Given the description of an element on the screen output the (x, y) to click on. 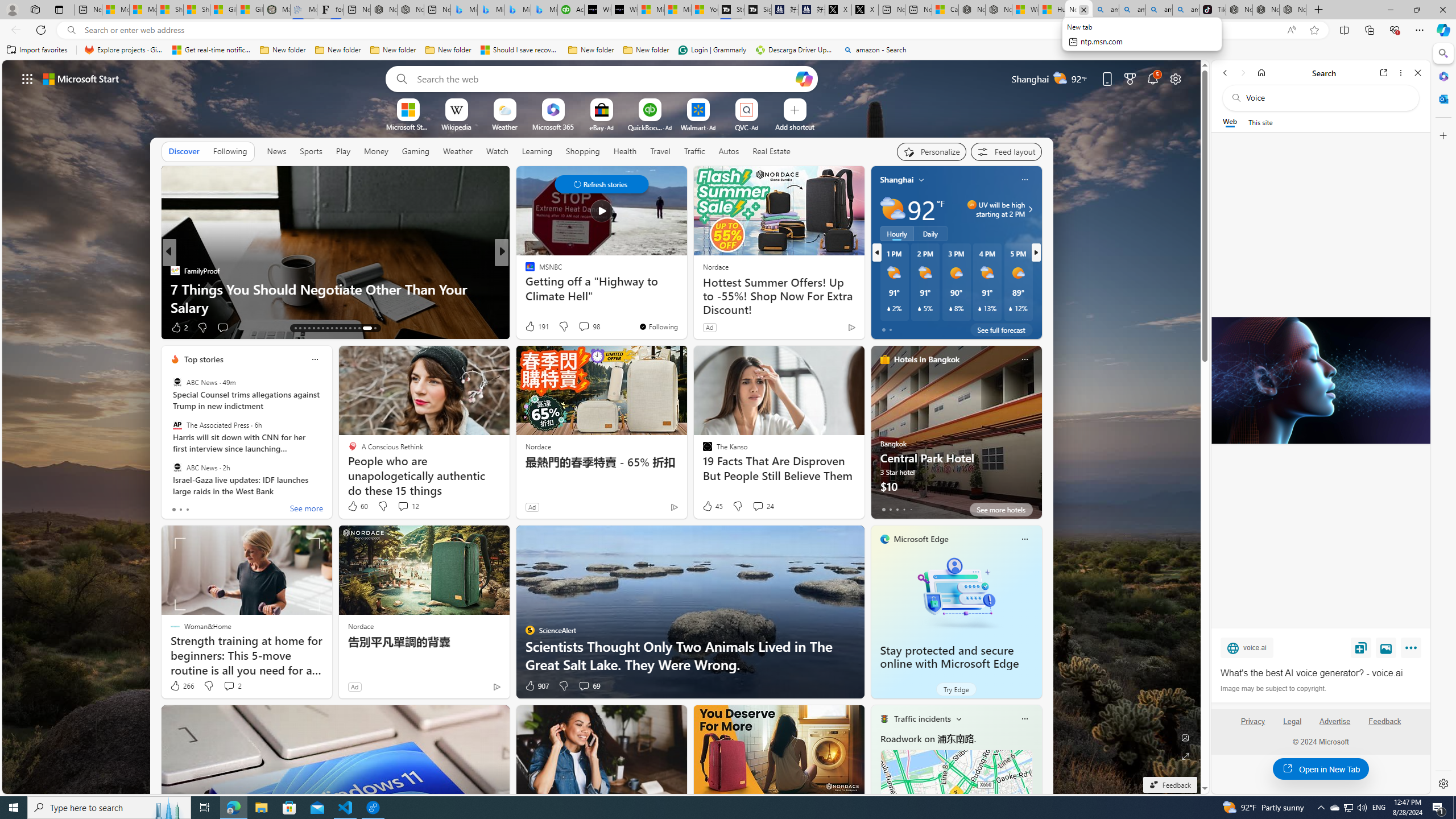
45 Like (712, 505)
Login | Grammarly (712, 49)
Nordace - Siena Pro 15 Essential Set (1292, 9)
AutomationID: tab-21 (331, 328)
tab-3 (903, 509)
Home (1261, 72)
Nordace Siena Pro 15 Backpack (1265, 9)
Play (342, 151)
